Given the description of an element on the screen output the (x, y) to click on. 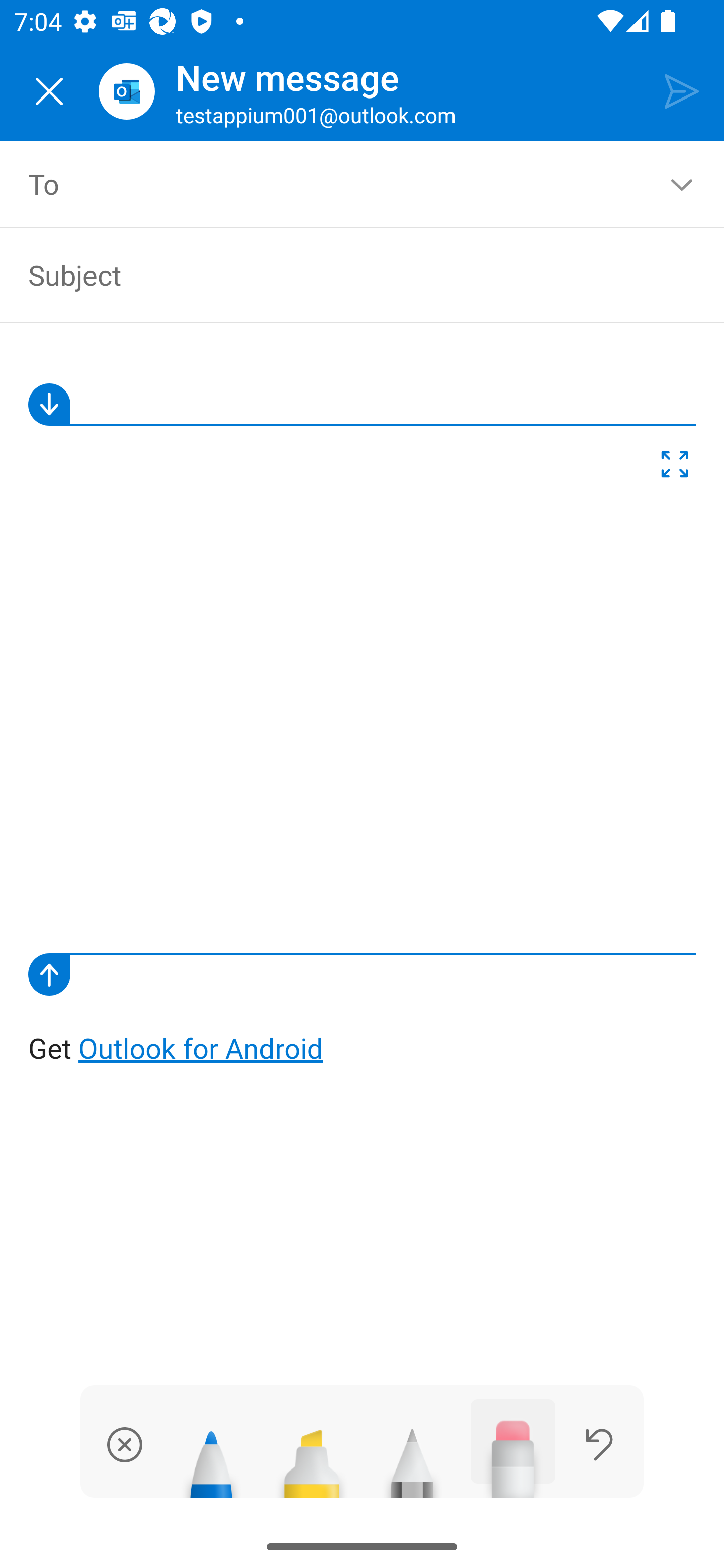
Close (49, 91)
Send (681, 90)
Subject (347, 274)


Get Outlook for Android (363, 707)
Canvas upper bound (362, 404)
Expand Drawing (674, 467)
Canvas Lower Bound (362, 974)
Eraser tool (512, 1447)
dismiss ink and save drawing (124, 1444)
Undo last stroke (598, 1444)
Pen tool (210, 1455)
Highlighter tool (311, 1455)
Pencil tool (411, 1455)
